Given the description of an element on the screen output the (x, y) to click on. 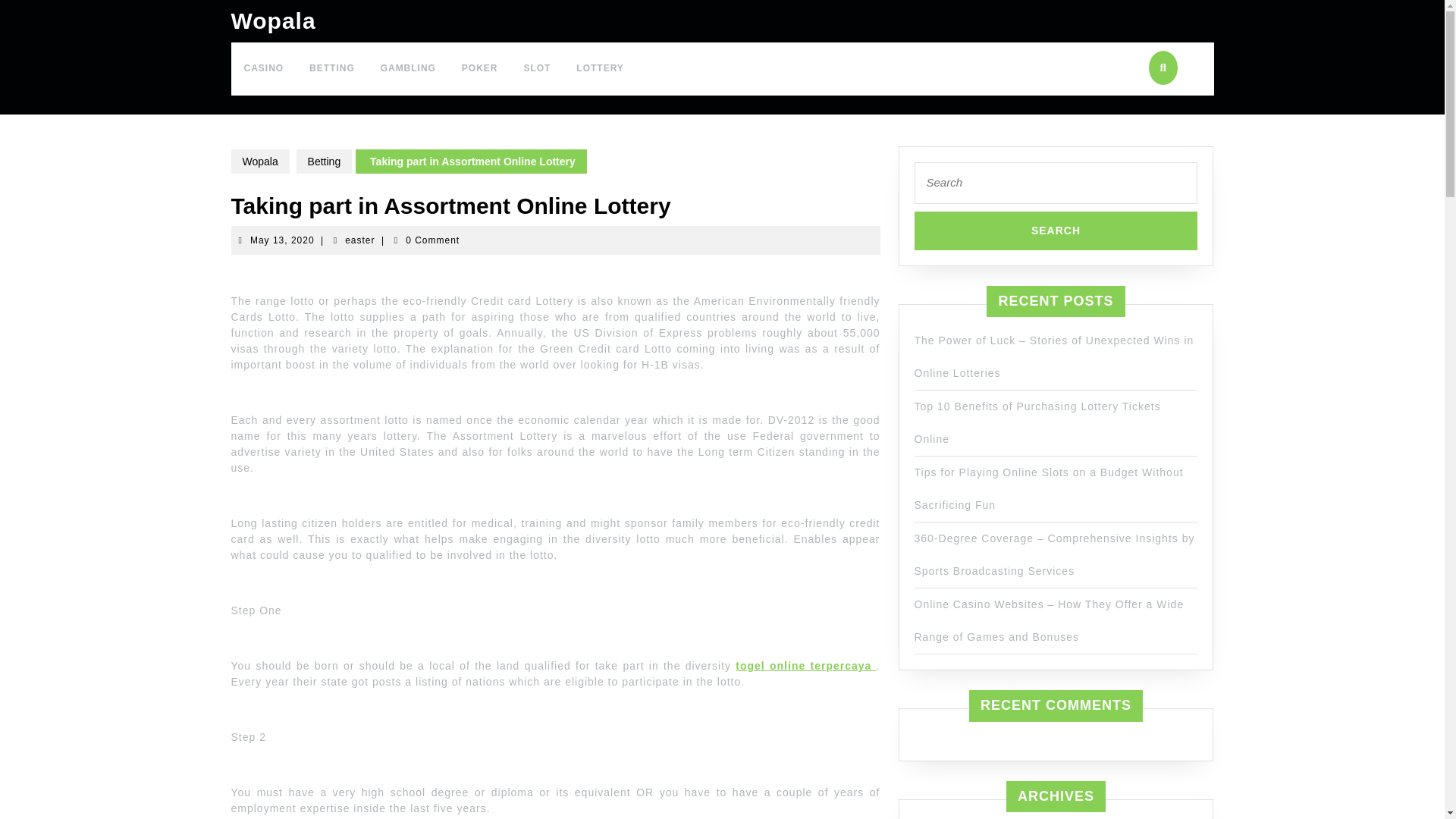
Search (1056, 229)
BETTING (332, 68)
Betting (324, 161)
POKER (479, 68)
SLOT (537, 68)
LOTTERY (599, 68)
Wopala (282, 240)
togel online terpercaya (259, 161)
